Given the description of an element on the screen output the (x, y) to click on. 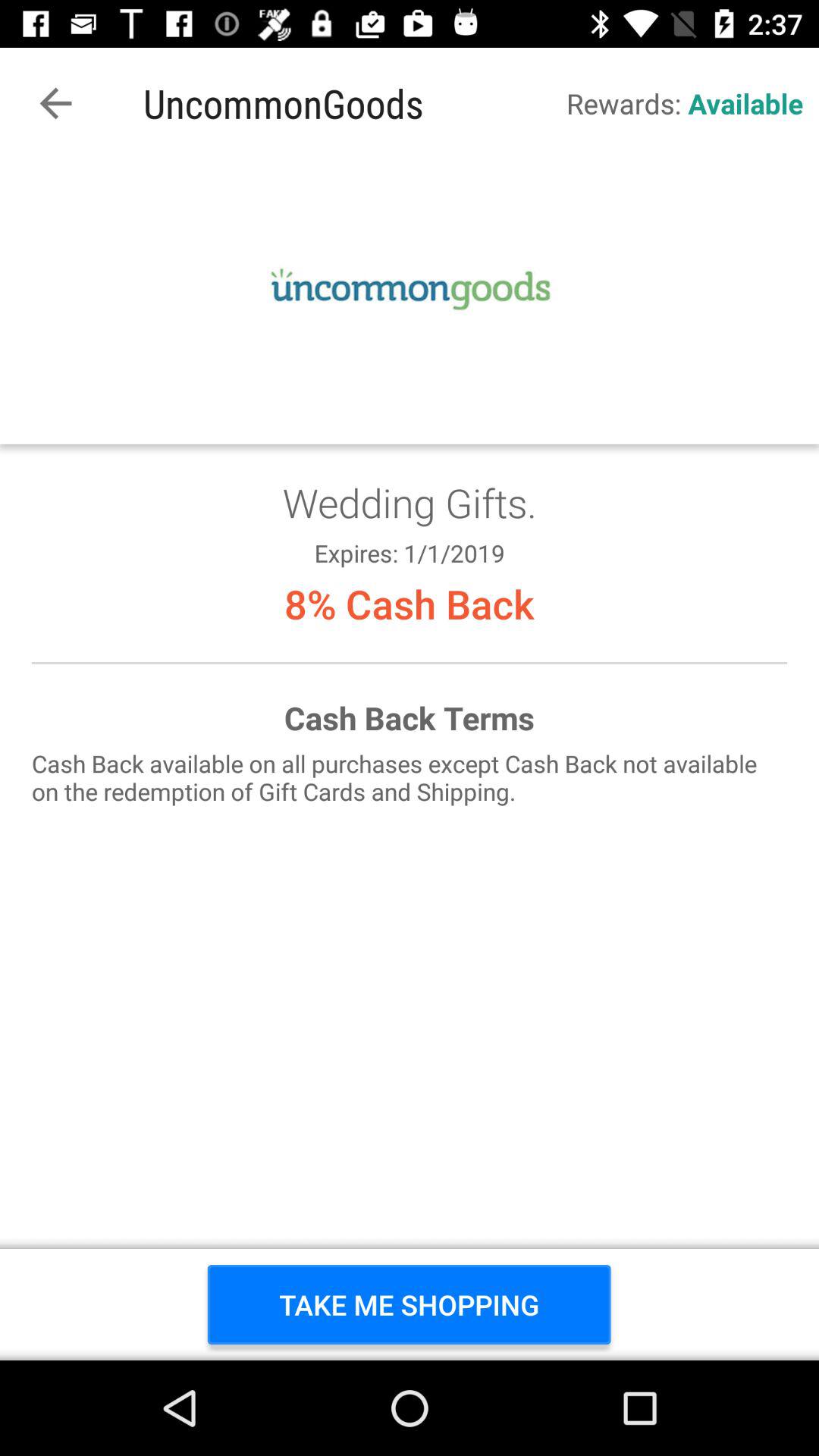
turn on the icon at the top left corner (55, 103)
